Given the description of an element on the screen output the (x, y) to click on. 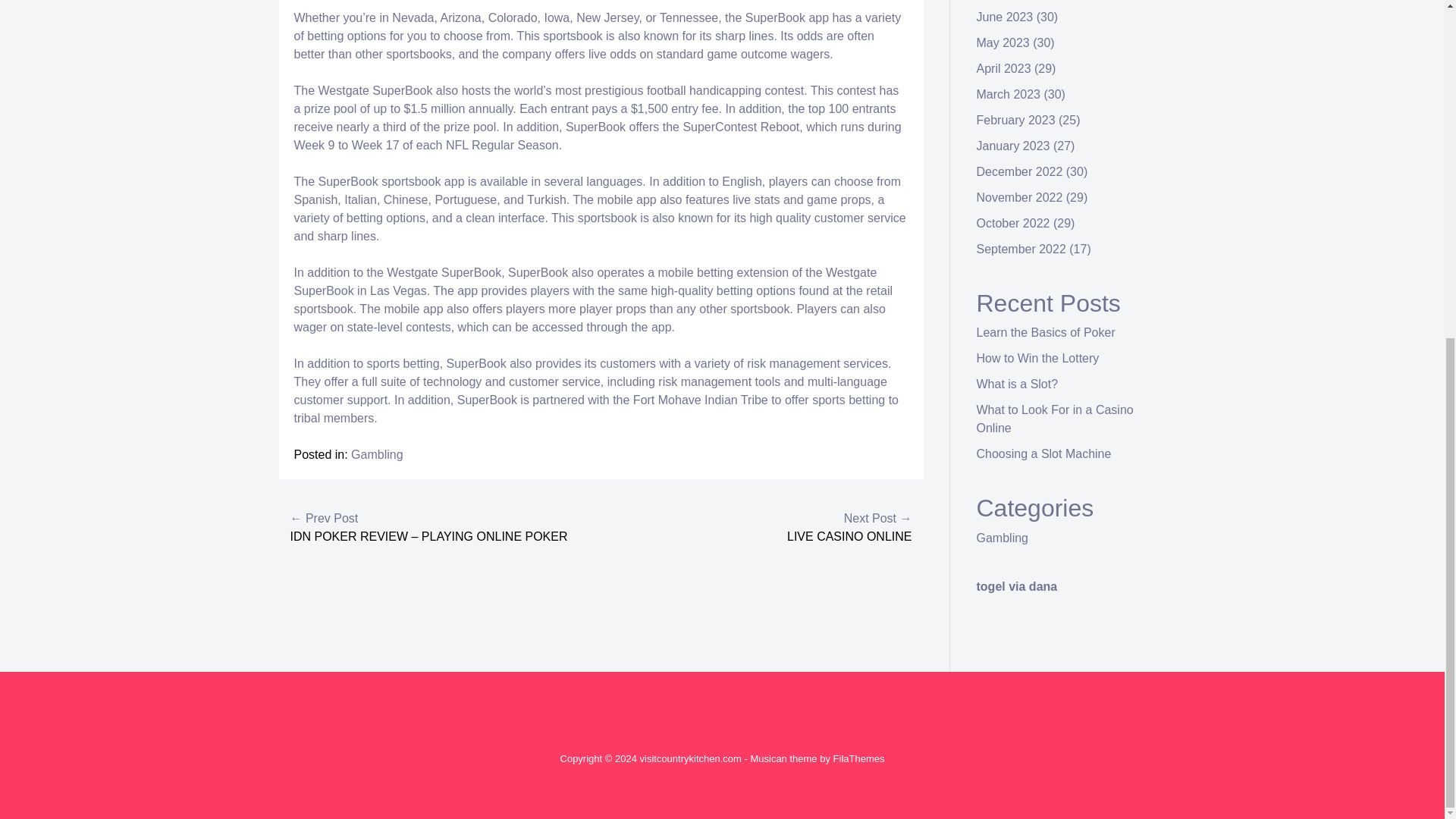
Gambling (1001, 537)
togel via dana (1017, 585)
December 2022 (1019, 171)
Learn the Basics of Poker (1045, 332)
April 2023 (1003, 68)
October 2022 (1012, 223)
How to Win the Lottery (1037, 358)
May 2023 (1002, 42)
Choosing a Slot Machine (1044, 453)
Gambling (376, 454)
February 2023 (1015, 119)
January 2023 (1012, 145)
visitcountrykitchen.com (690, 758)
March 2023 (1008, 93)
What to Look For in a Casino Online (1055, 418)
